Given the description of an element on the screen output the (x, y) to click on. 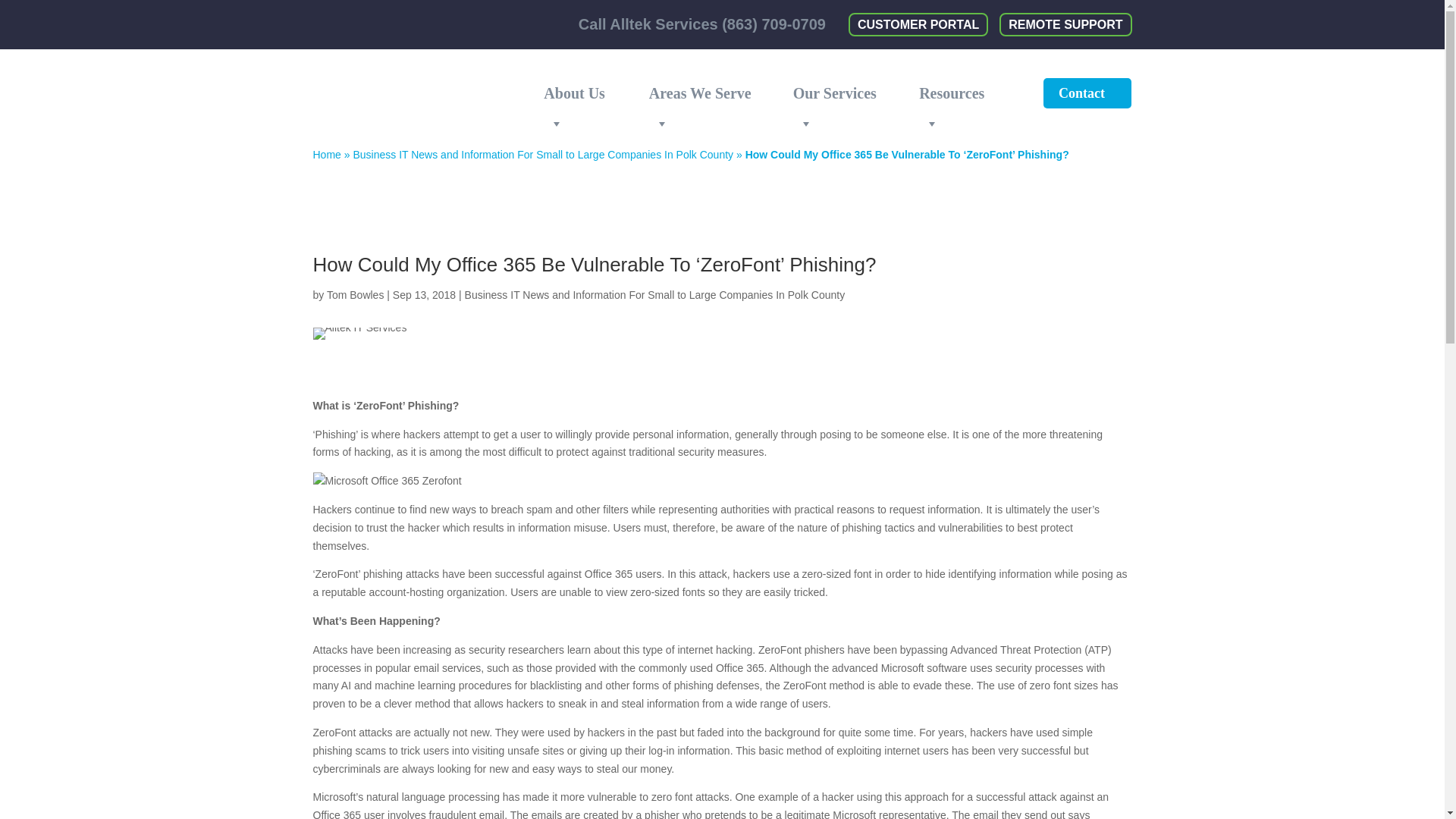
REMOTE SUPPORT (1064, 24)
Areas We Serve (705, 92)
CUSTOMER PORTAL (918, 24)
GettyImages-817486028 (359, 333)
Posts by Tom Bowles (355, 295)
Our Services (840, 92)
About Us (580, 92)
